Given the description of an element on the screen output the (x, y) to click on. 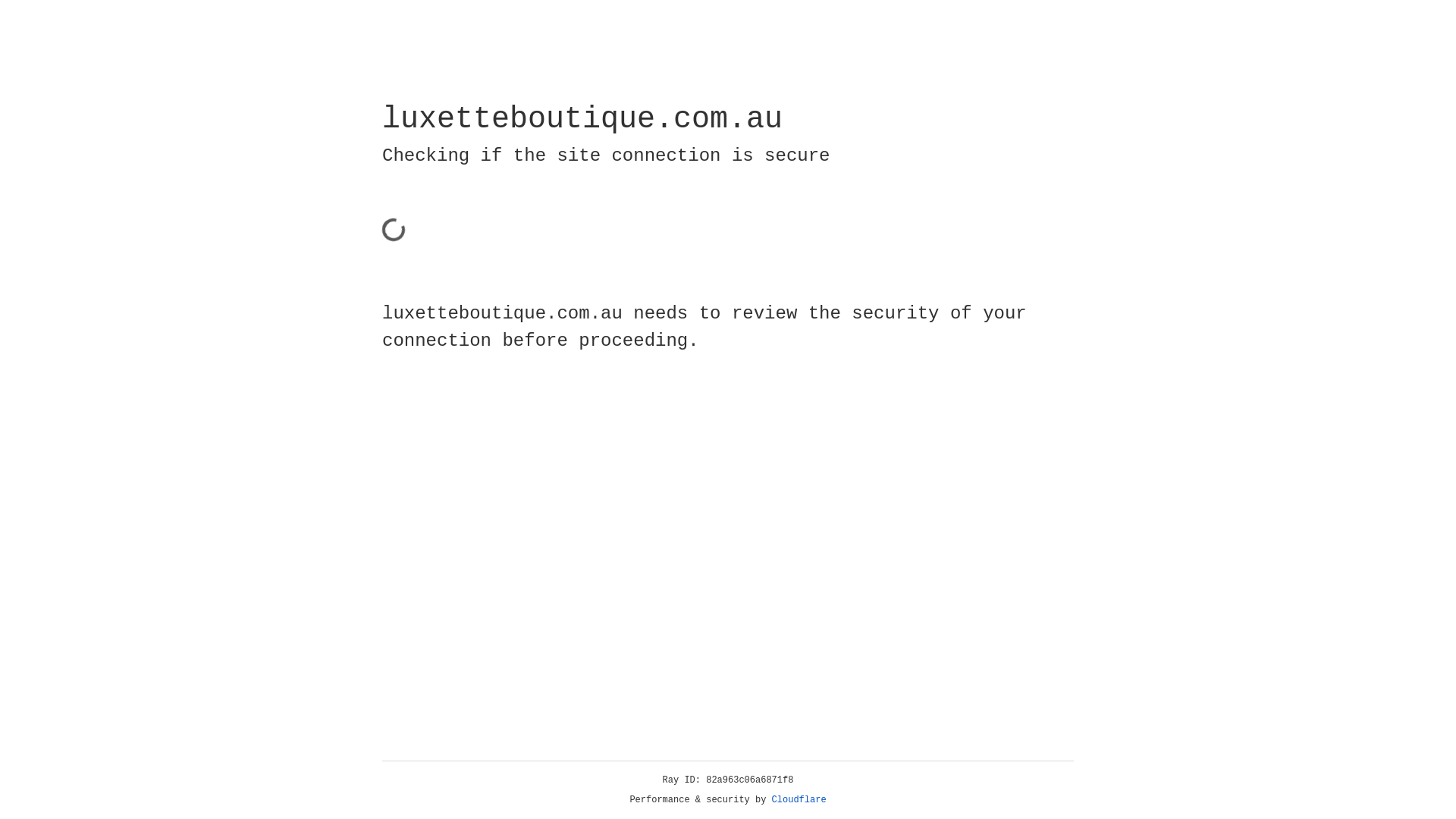
Cloudflare Element type: text (798, 799)
